Given the description of an element on the screen output the (x, y) to click on. 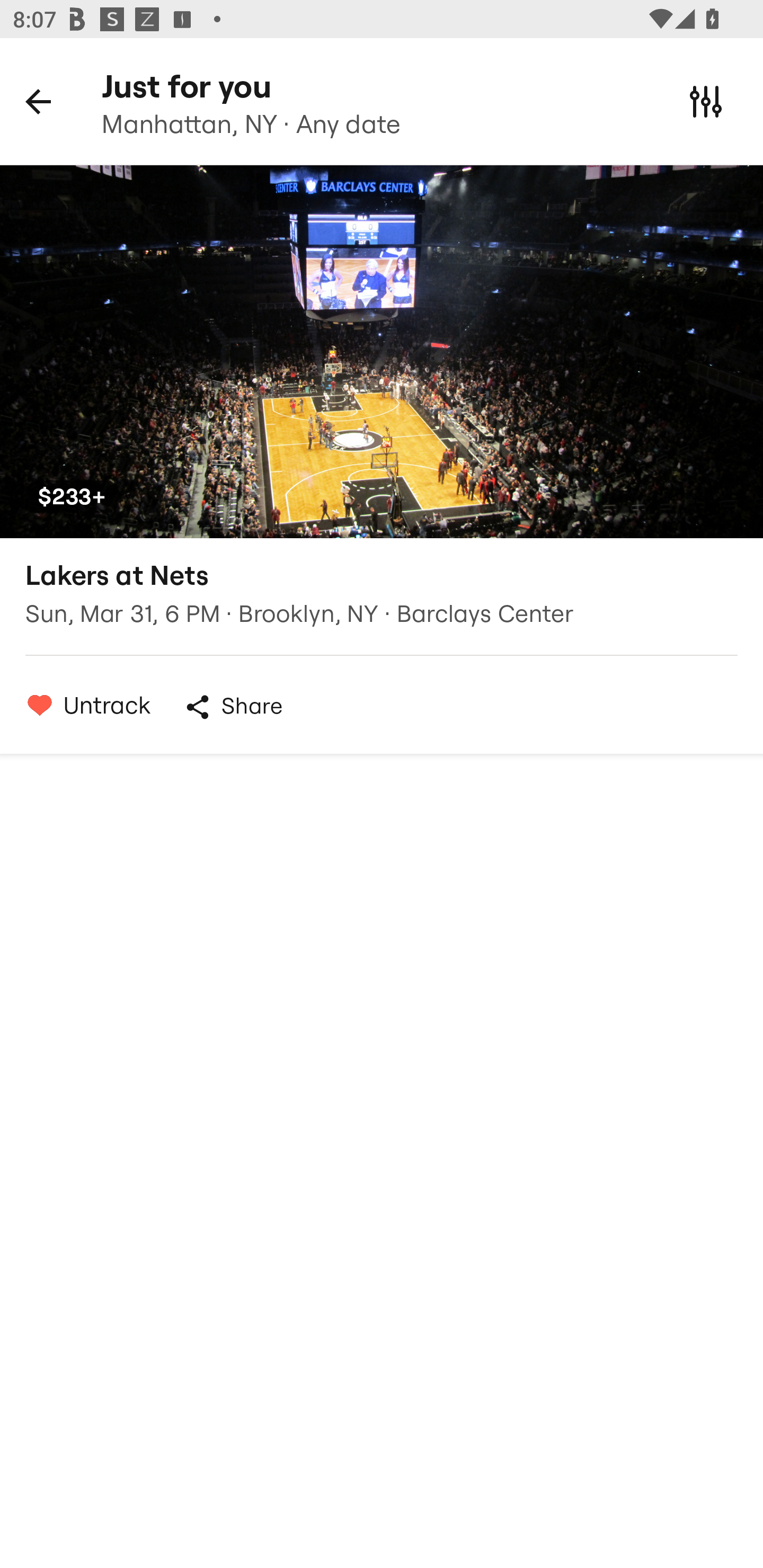
Back (38, 100)
Filters (705, 100)
Untrack (83, 704)
Share (233, 706)
